Given the description of an element on the screen output the (x, y) to click on. 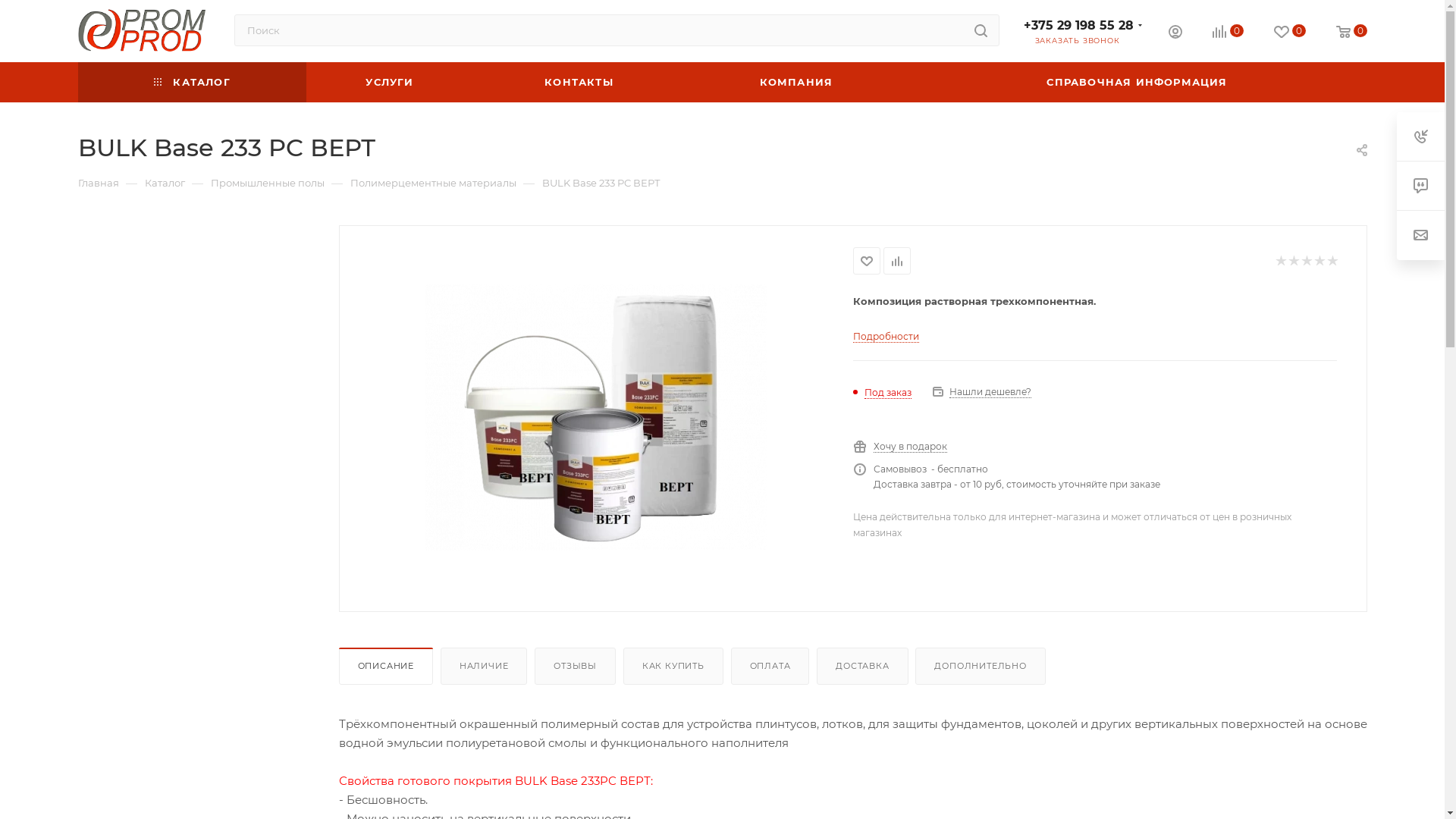
2 Element type: hover (1292, 260)
0 Element type: text (1289, 31)
3 Element type: hover (1305, 260)
promprod.by Element type: hover (143, 30)
1 Element type: hover (1280, 260)
0 Element type: text (1351, 31)
4 Element type: hover (1317, 260)
0 Element type: text (1227, 31)
5 Element type: hover (1331, 260)
+375 29 198 55 28 Element type: text (1078, 25)
